Given the description of an element on the screen output the (x, y) to click on. 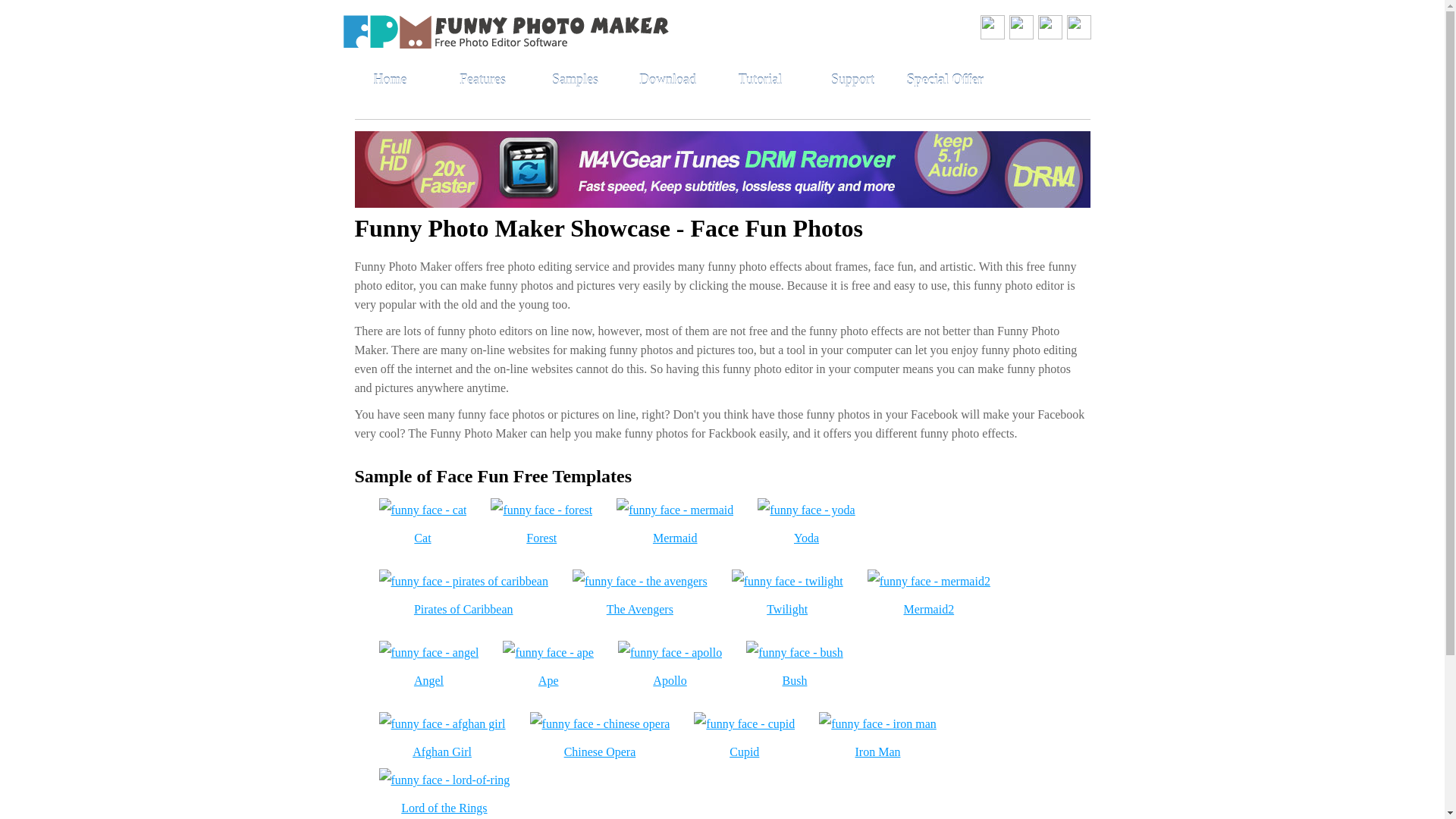
Chinese Opera (600, 751)
Mermaid2 (927, 608)
Features (481, 79)
Apollo (668, 680)
Bush (795, 680)
Home (389, 79)
Twilight (787, 608)
Mermaid (674, 537)
Support (852, 79)
Forest (540, 537)
